Given the description of an element on the screen output the (x, y) to click on. 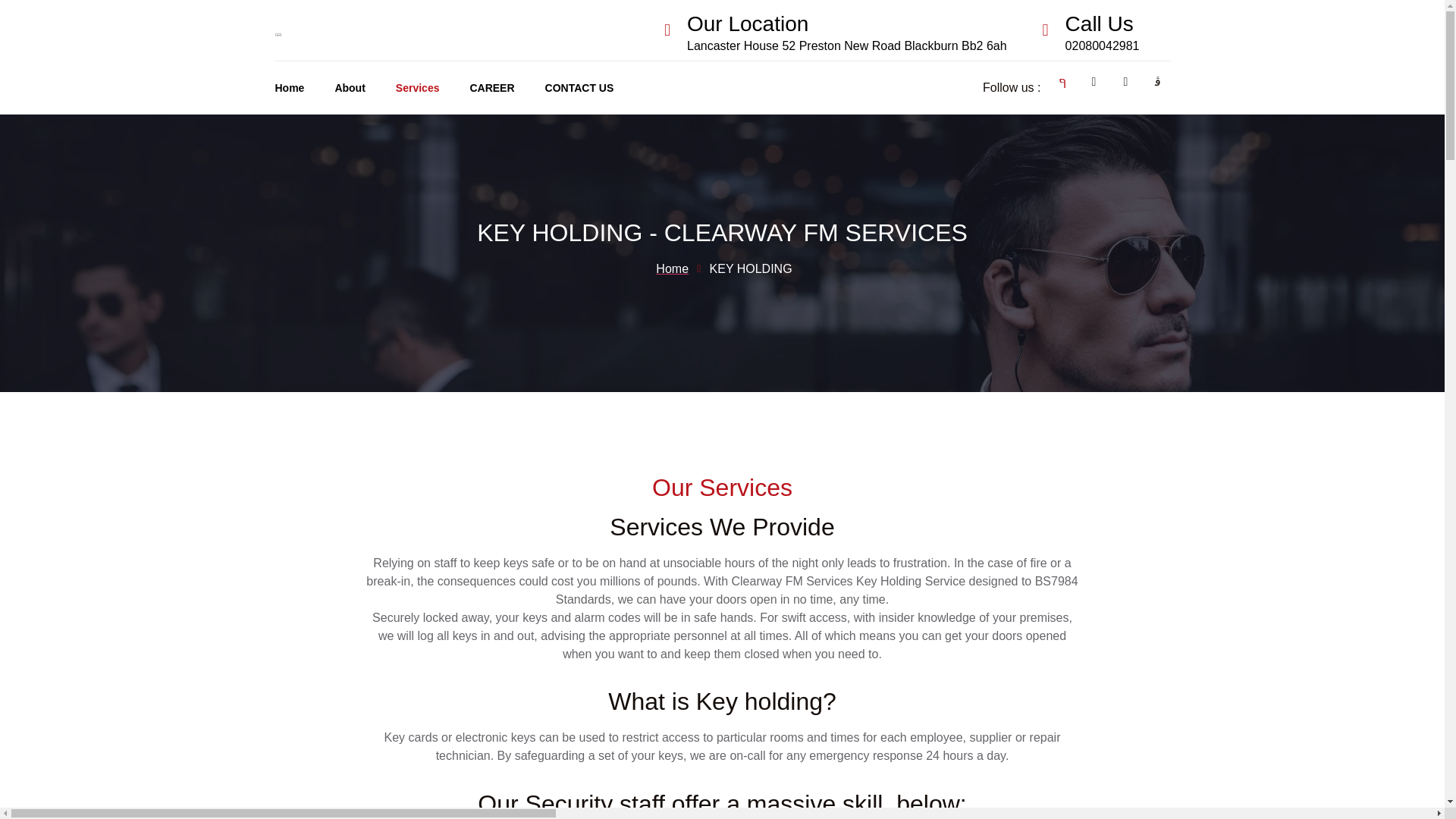
CONTACT US (594, 87)
Services (433, 87)
Home (304, 87)
Call Us (1099, 24)
CAREER (506, 87)
About (364, 87)
